Given the description of an element on the screen output the (x, y) to click on. 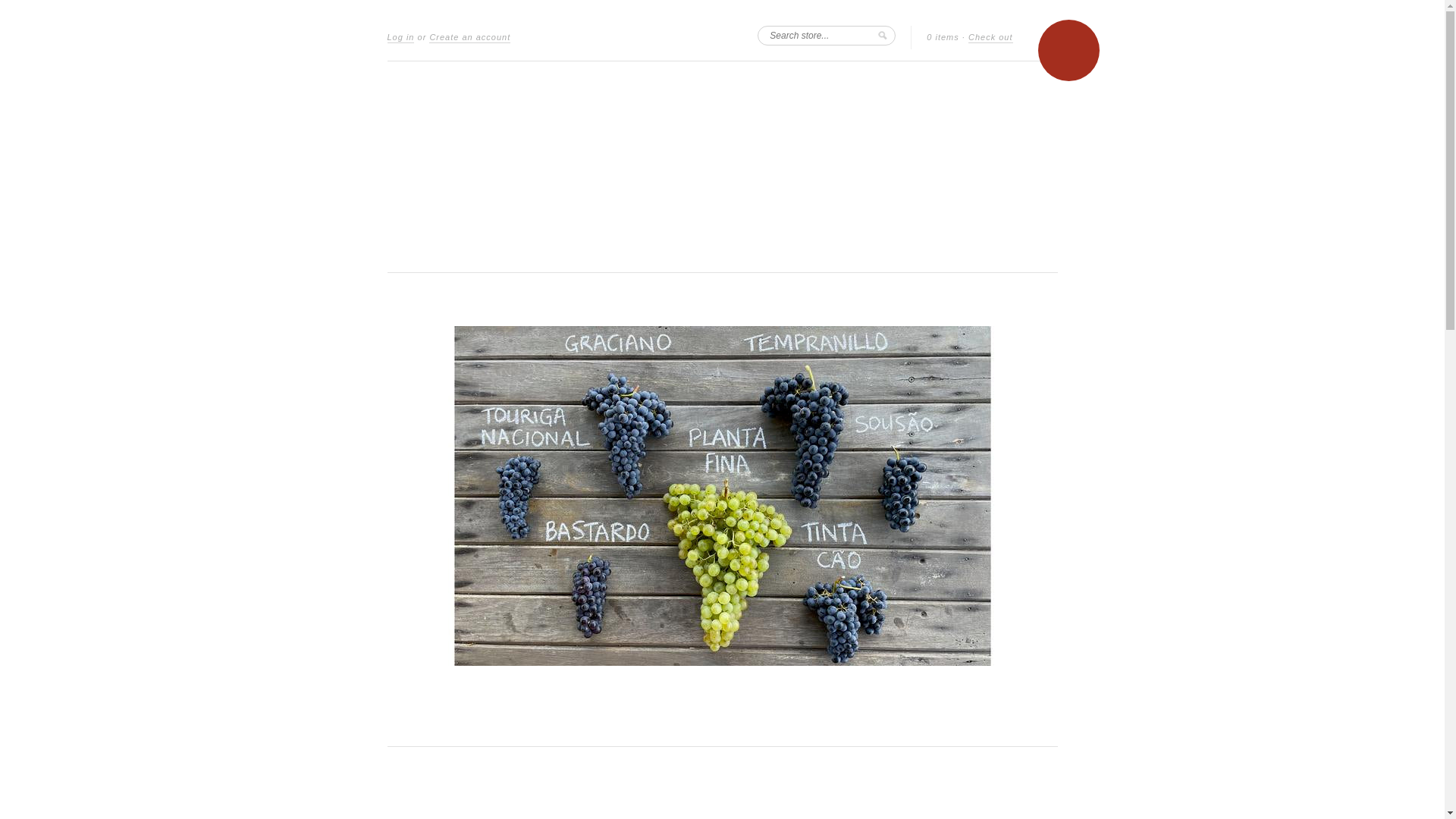
0 items Element type: text (942, 37)
Log in Element type: text (400, 37)
Check out Element type: text (990, 37)
Create an account Element type: text (469, 37)
